Given the description of an element on the screen output the (x, y) to click on. 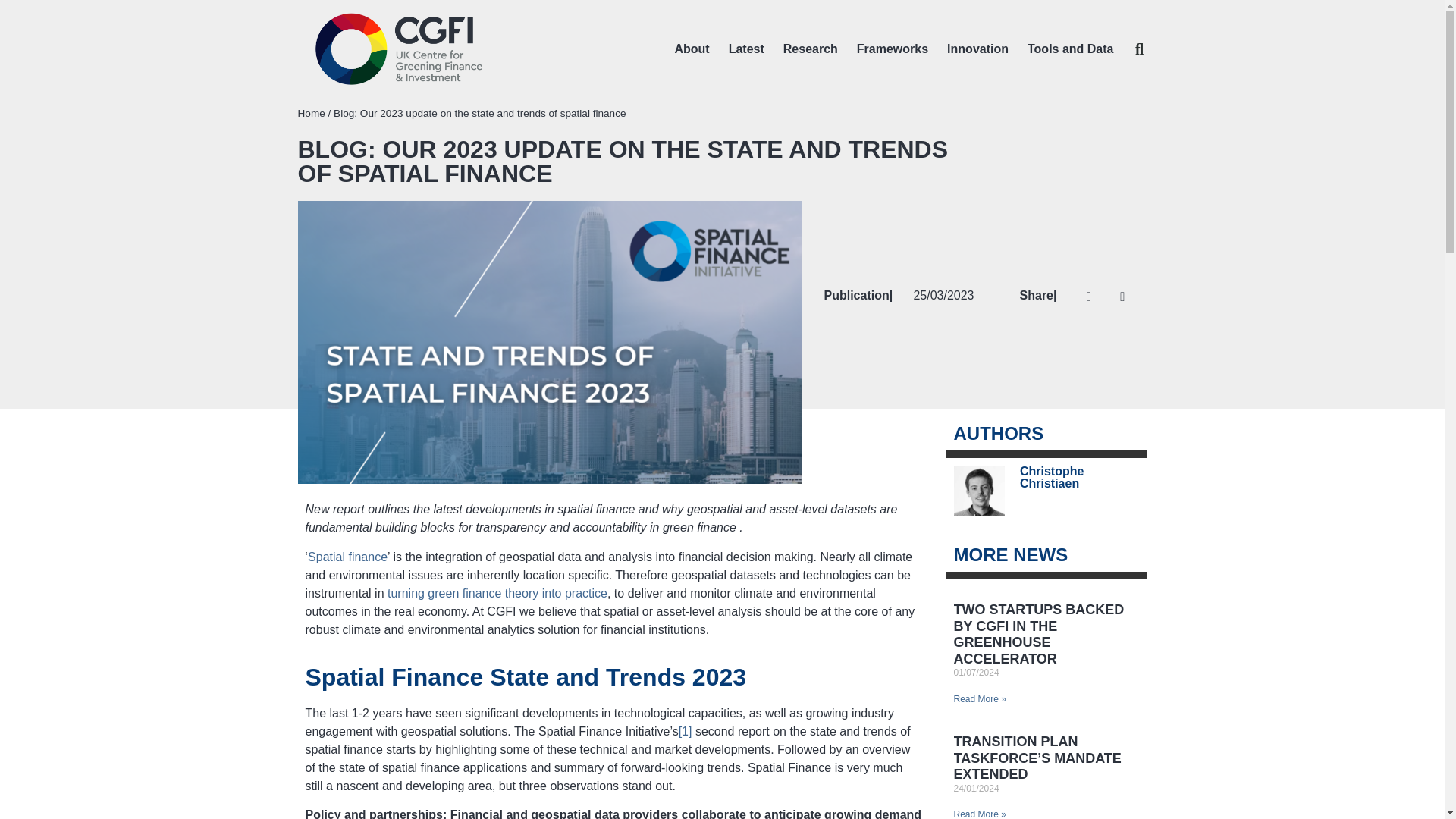
Tools and Data (1070, 49)
Frameworks (893, 49)
Latest (745, 49)
About (691, 49)
Innovation (977, 49)
Research (810, 49)
